Given the description of an element on the screen output the (x, y) to click on. 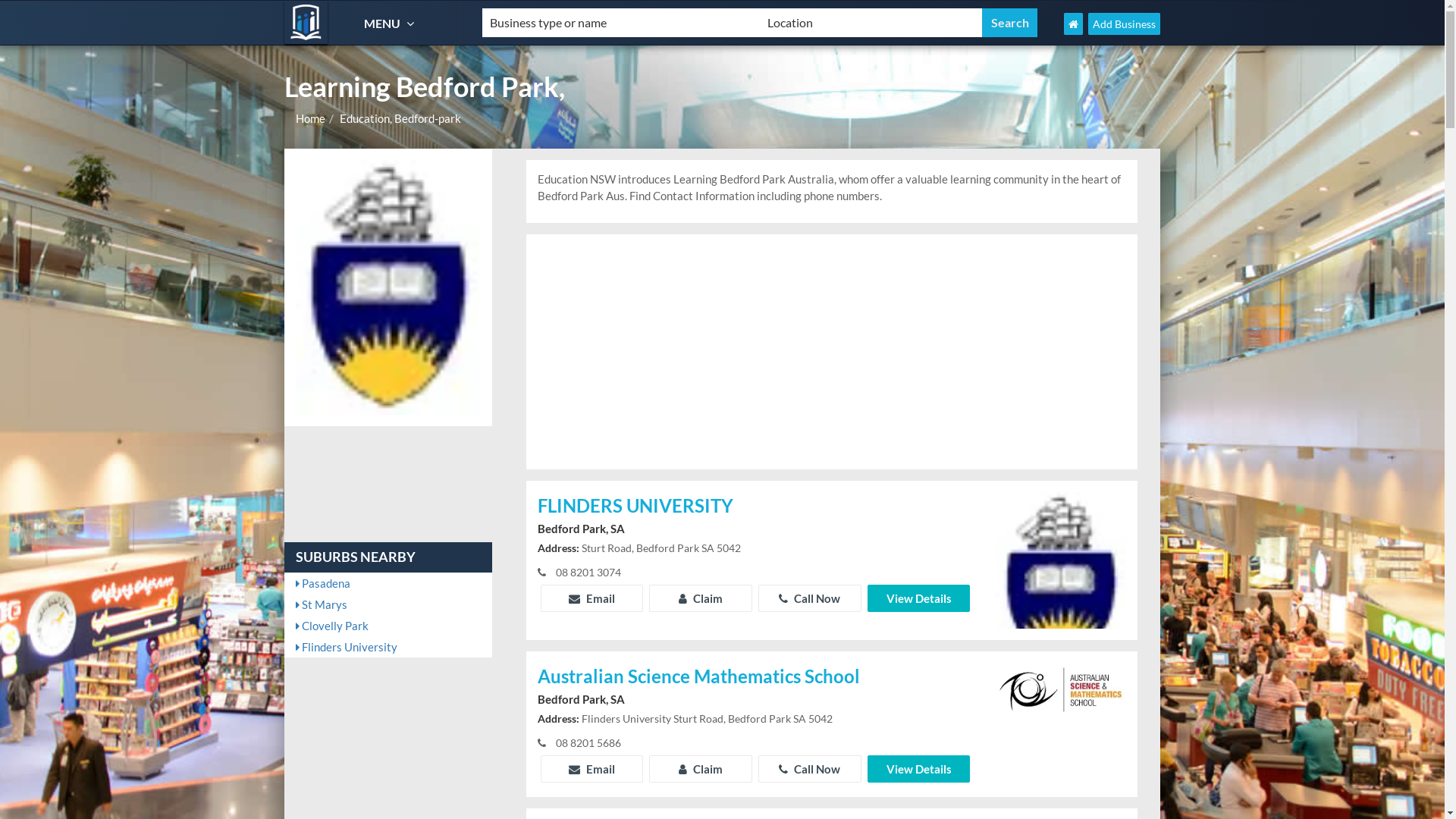
More info on Australian Science  Mathematics School Element type: hover (1060, 688)
Australian Science Mathematics School Element type: text (755, 677)
Email Element type: text (591, 597)
Add Business Element type: text (1124, 23)
Education, Bedford-park Element type: text (400, 118)
Claim Element type: text (700, 597)
Pasadena Element type: text (388, 582)
Email Element type: text (591, 768)
MENU Element type: text (390, 22)
View Details Element type: text (918, 768)
Home Element type: text (310, 118)
Call Now Element type: text (809, 597)
FLINDERS UNIVERSITY Element type: text (755, 506)
Search Element type: text (1009, 22)
Clovelly Park Element type: text (388, 625)
Advertisement Element type: hover (831, 351)
More info on FLINDERS UNIVERSITY Element type: hover (1060, 579)
Call Now Element type: text (809, 768)
View Details Element type: text (918, 597)
Education NSW Element type: hover (305, 21)
Education NSW Home Page Element type: hover (1072, 23)
St Marys Element type: text (388, 604)
Claim Element type: text (700, 768)
Flinders University Element type: text (388, 646)
